Given the description of an element on the screen output the (x, y) to click on. 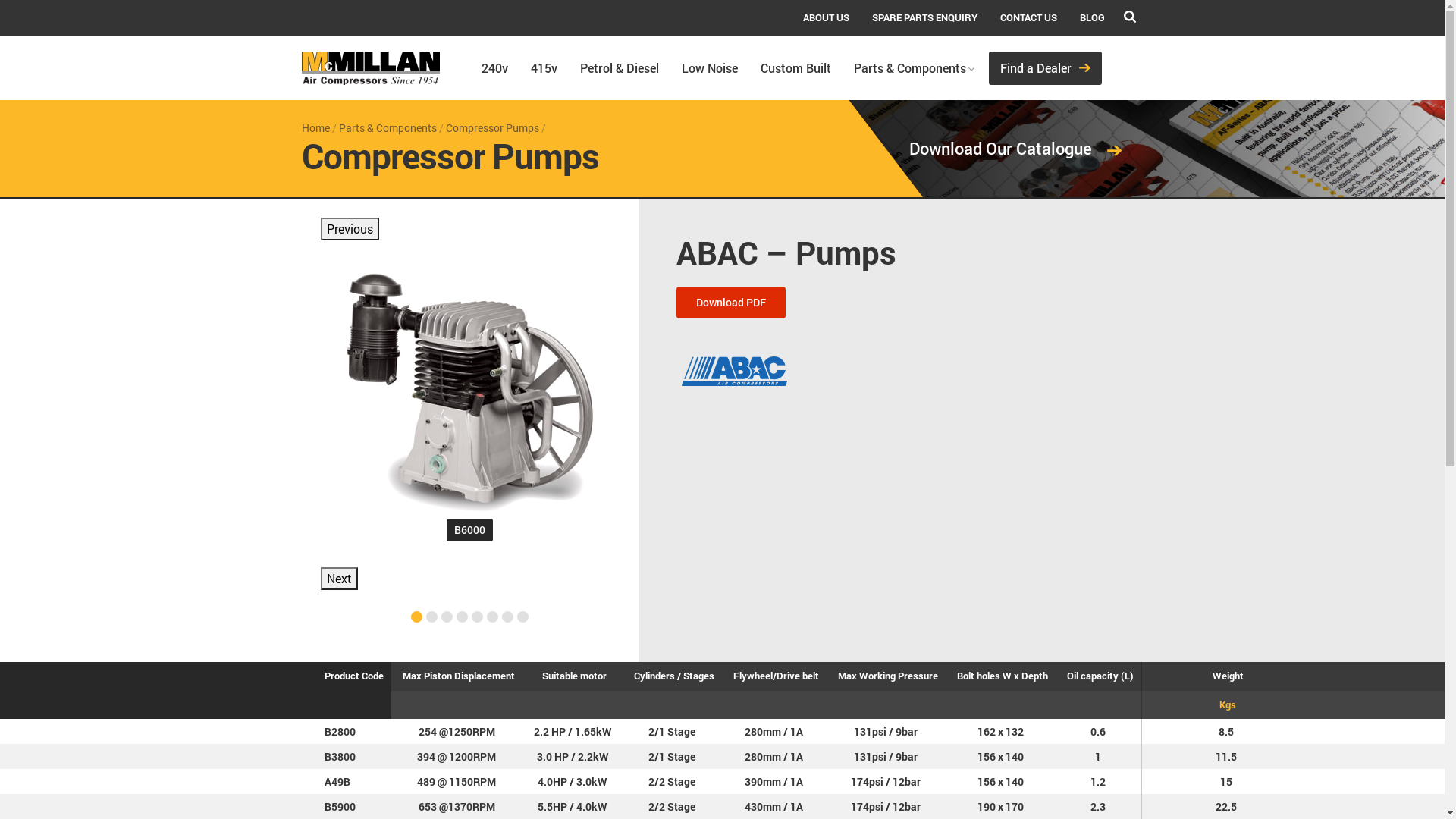
Parts & Components Element type: text (387, 126)
ABOUT US Element type: text (825, 18)
5 Element type: text (477, 616)
Download Our Catalogue Element type: text (995, 148)
Home Element type: text (315, 126)
Low Noise Element type: text (709, 67)
Parts & Components Element type: text (908, 67)
abac-air-compressor-logo Element type: hover (734, 370)
Petrol & Diesel Element type: text (619, 67)
Find a Dealer Element type: text (1044, 67)
7 Element type: text (507, 616)
Next Element type: text (338, 578)
SPARE PARTS ENQUIRY Element type: text (923, 18)
240v Element type: text (494, 67)
Compressor Pumps Element type: text (492, 126)
415v Element type: text (542, 67)
4 Element type: text (461, 616)
Previous Element type: text (349, 228)
8 Element type: text (522, 616)
2 Element type: text (431, 616)
B6000 Element type: hover (469, 391)
3 Element type: text (446, 616)
BLOG Element type: text (1091, 18)
CONTACT US Element type: text (1028, 18)
6 Element type: text (492, 616)
1 Element type: text (416, 616)
Download PDF Element type: text (730, 302)
Custom Built Element type: text (795, 67)
